Given the description of an element on the screen output the (x, y) to click on. 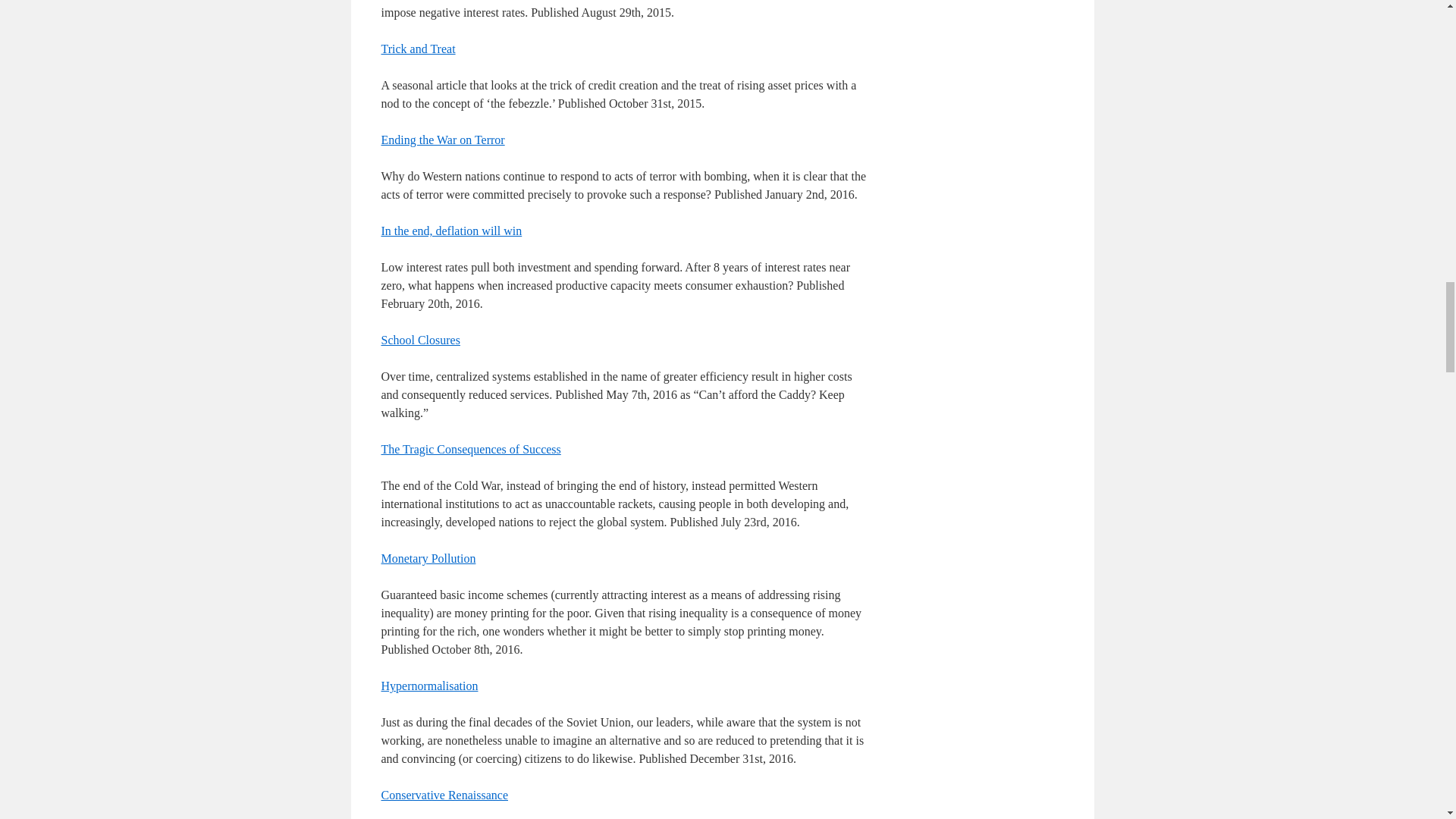
Monetary Pollution (428, 558)
Trick and Treat (417, 48)
School Closures (420, 339)
Ending the War on Terror (441, 139)
In the end, deflation will win (450, 230)
The Tragic Consequences of Success (470, 449)
